Given the description of an element on the screen output the (x, y) to click on. 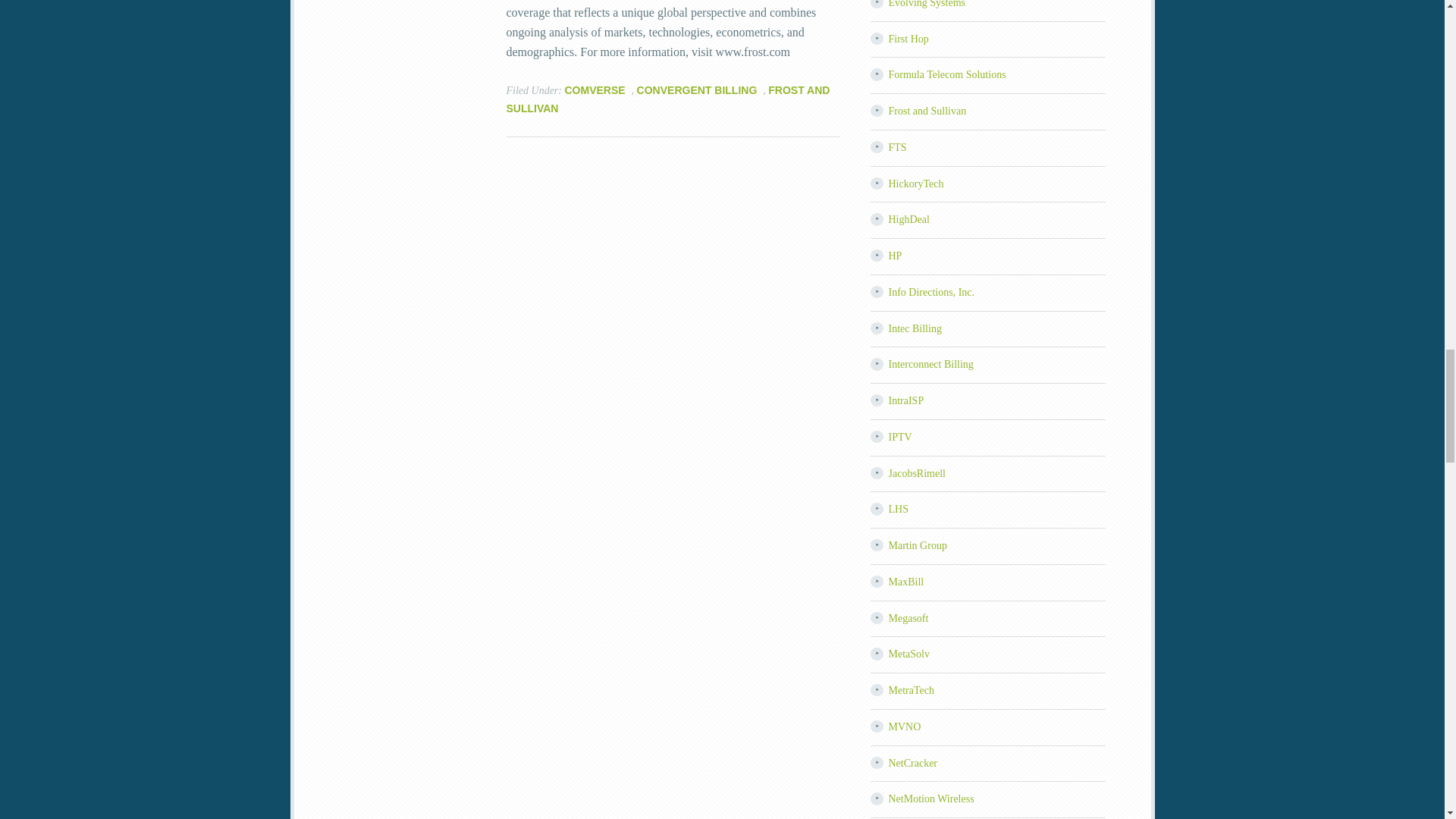
FROST AND SULLIVAN (667, 99)
CONVERGENT BILLING (697, 90)
COMVERSE (594, 90)
